Given the description of an element on the screen output the (x, y) to click on. 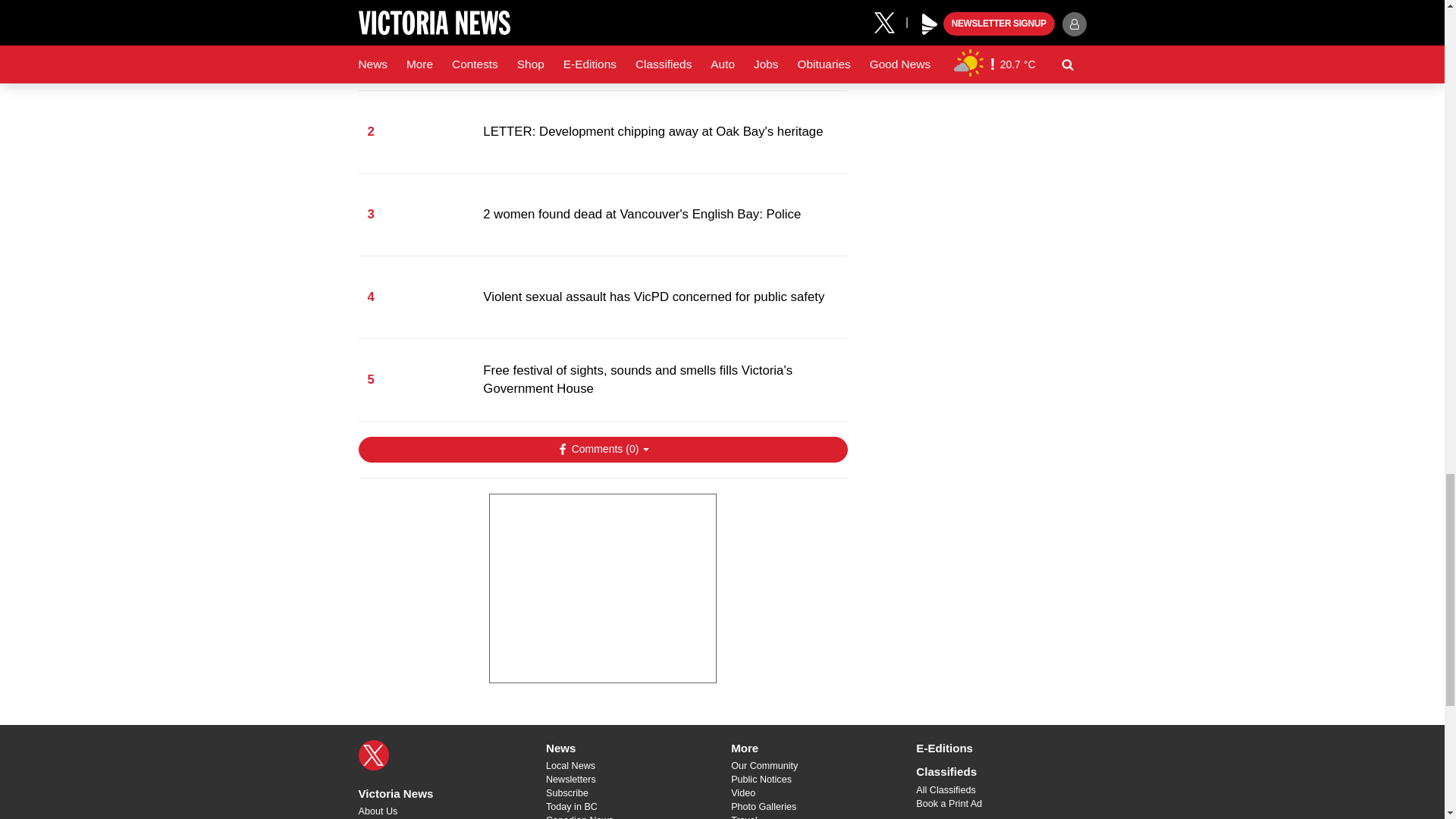
X (373, 755)
3rd party ad content (602, 588)
Show Comments (602, 449)
